Given the description of an element on the screen output the (x, y) to click on. 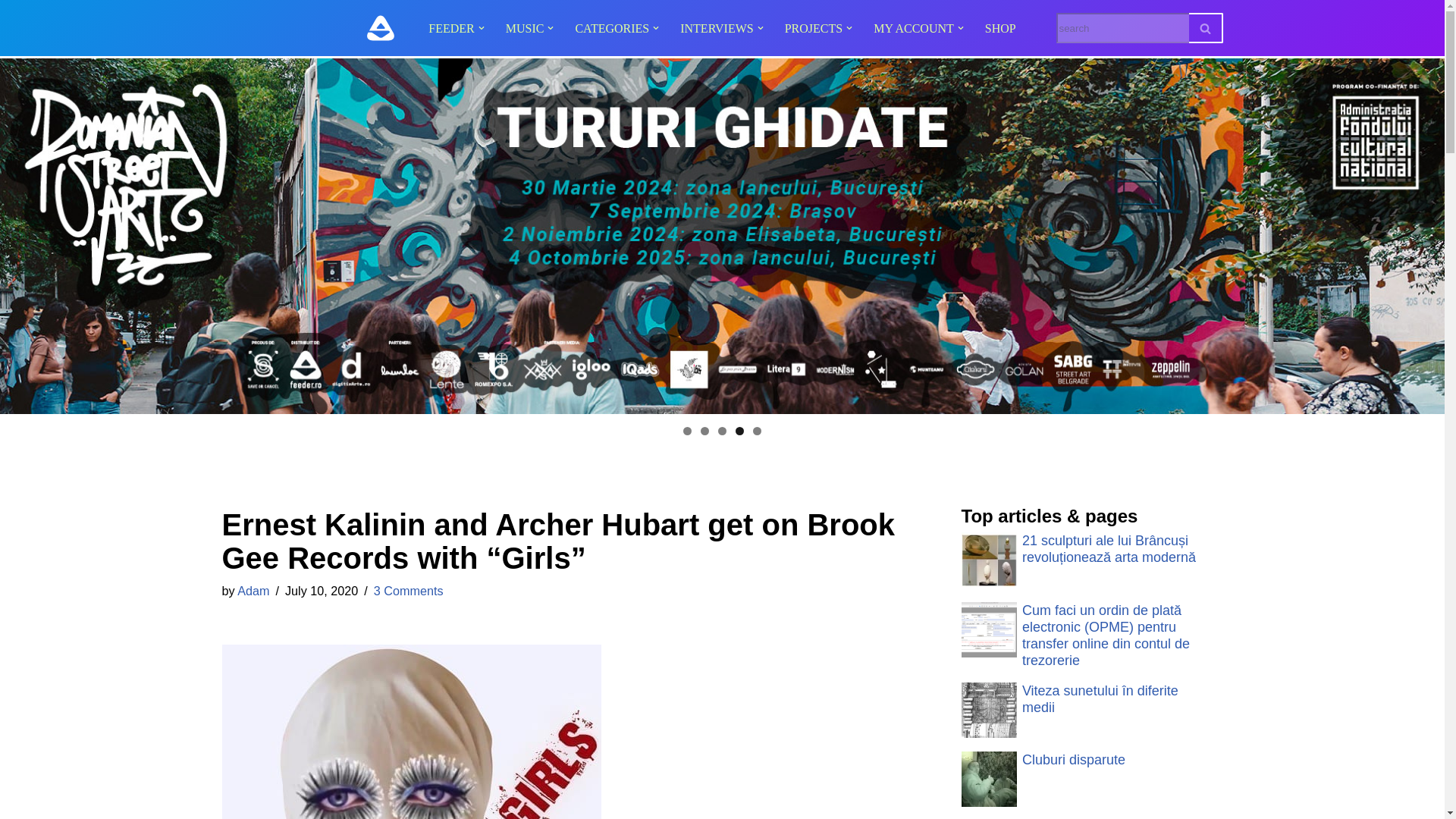
INTERVIEWS (715, 28)
Posts by Adam (253, 590)
PROJECTS (813, 28)
Skip to content (11, 31)
CATEGORIES (612, 28)
MUSIC (524, 28)
FEEDER (451, 28)
